Given the description of an element on the screen output the (x, y) to click on. 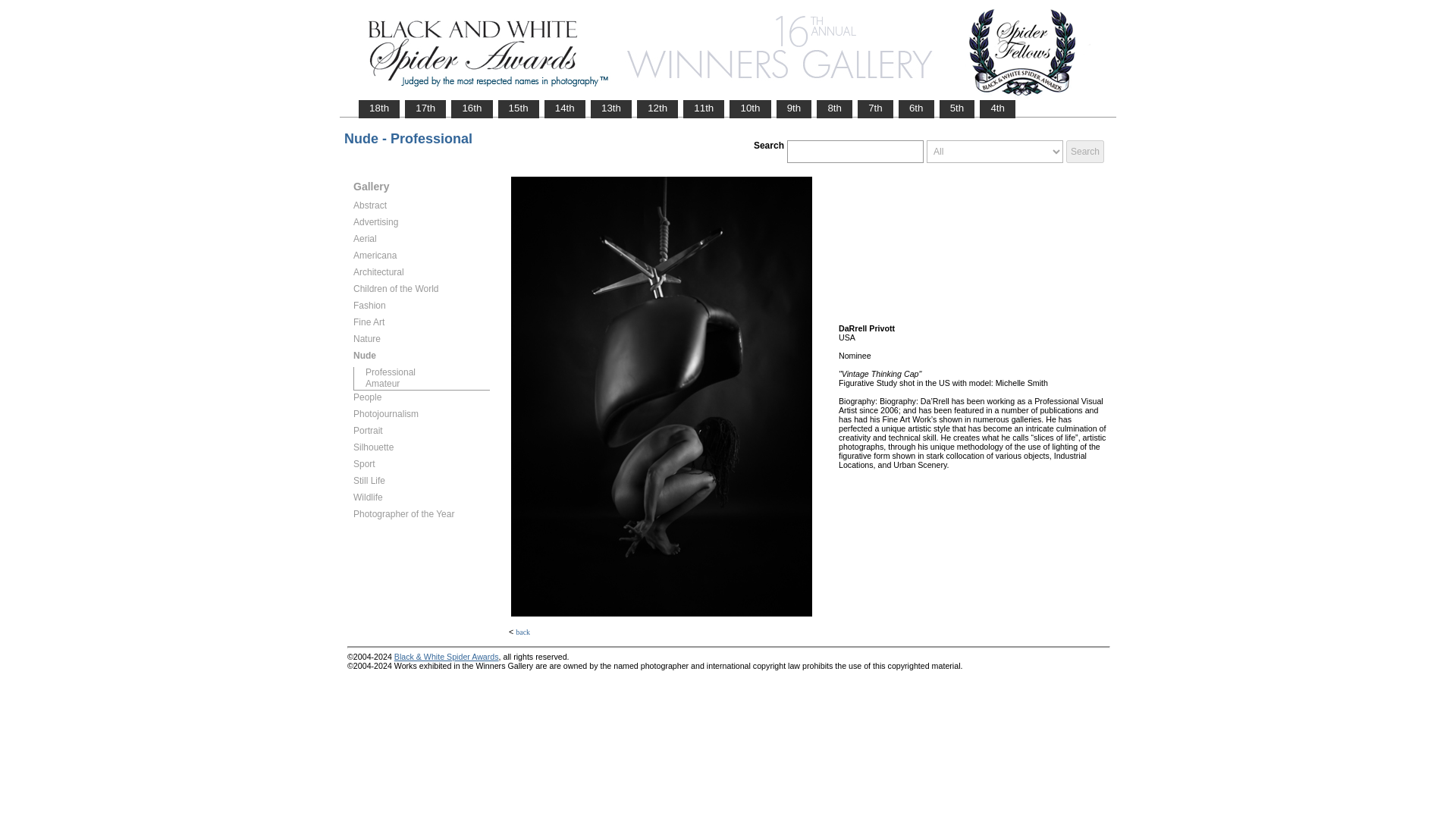
Vintage Thinking Cap (661, 396)
   16th    (471, 107)
   7th    (875, 107)
Amateur (427, 383)
Professional (427, 372)
Search (1084, 151)
   18th    (378, 107)
   8th    (833, 107)
   12th    (657, 107)
Search (1084, 151)
   17th    (425, 107)
   14th    (564, 107)
   4th    (996, 107)
   5th    (957, 107)
   15th    (518, 107)
